Given the description of an element on the screen output the (x, y) to click on. 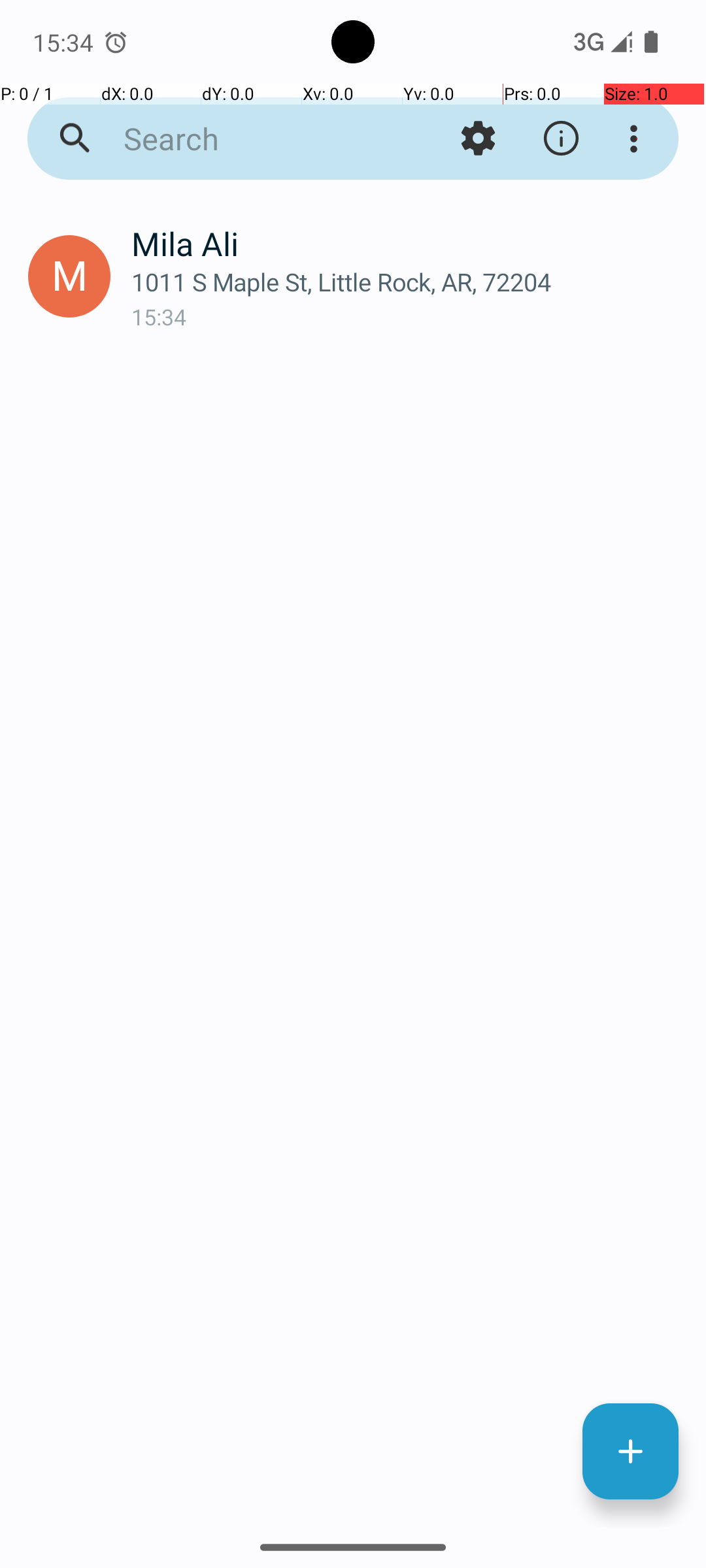
Mila Ali Element type: android.widget.TextView (408, 242)
1011 S Maple St, Little Rock, AR, 72204 Element type: android.widget.TextView (408, 281)
